Given the description of an element on the screen output the (x, y) to click on. 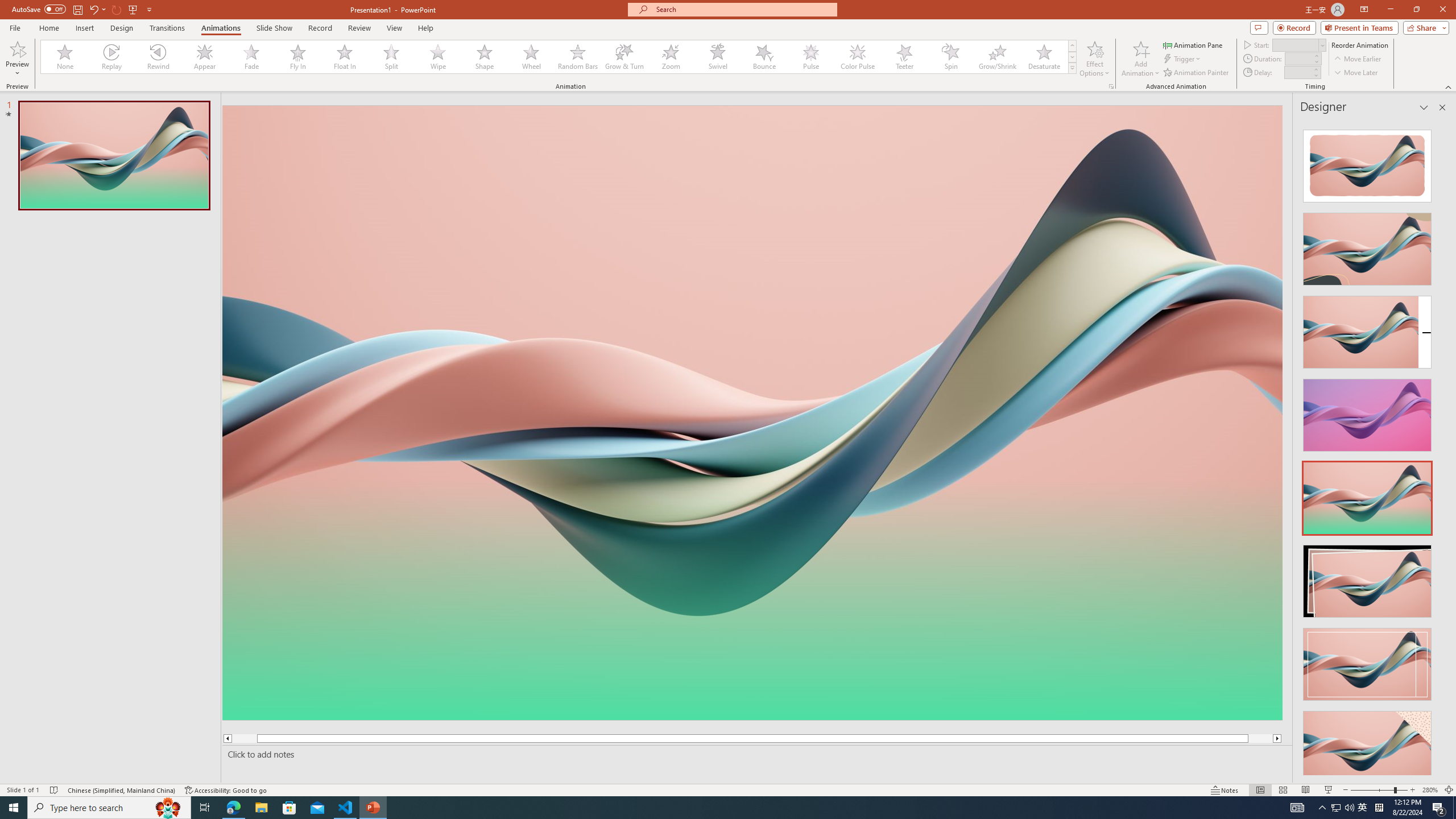
AutomationID: AnimationGallery (558, 56)
Wheel (531, 56)
Effect Options (1094, 58)
Zoom 280% (1430, 790)
Grow & Turn (624, 56)
More Options... (1110, 85)
